Given the description of an element on the screen output the (x, y) to click on. 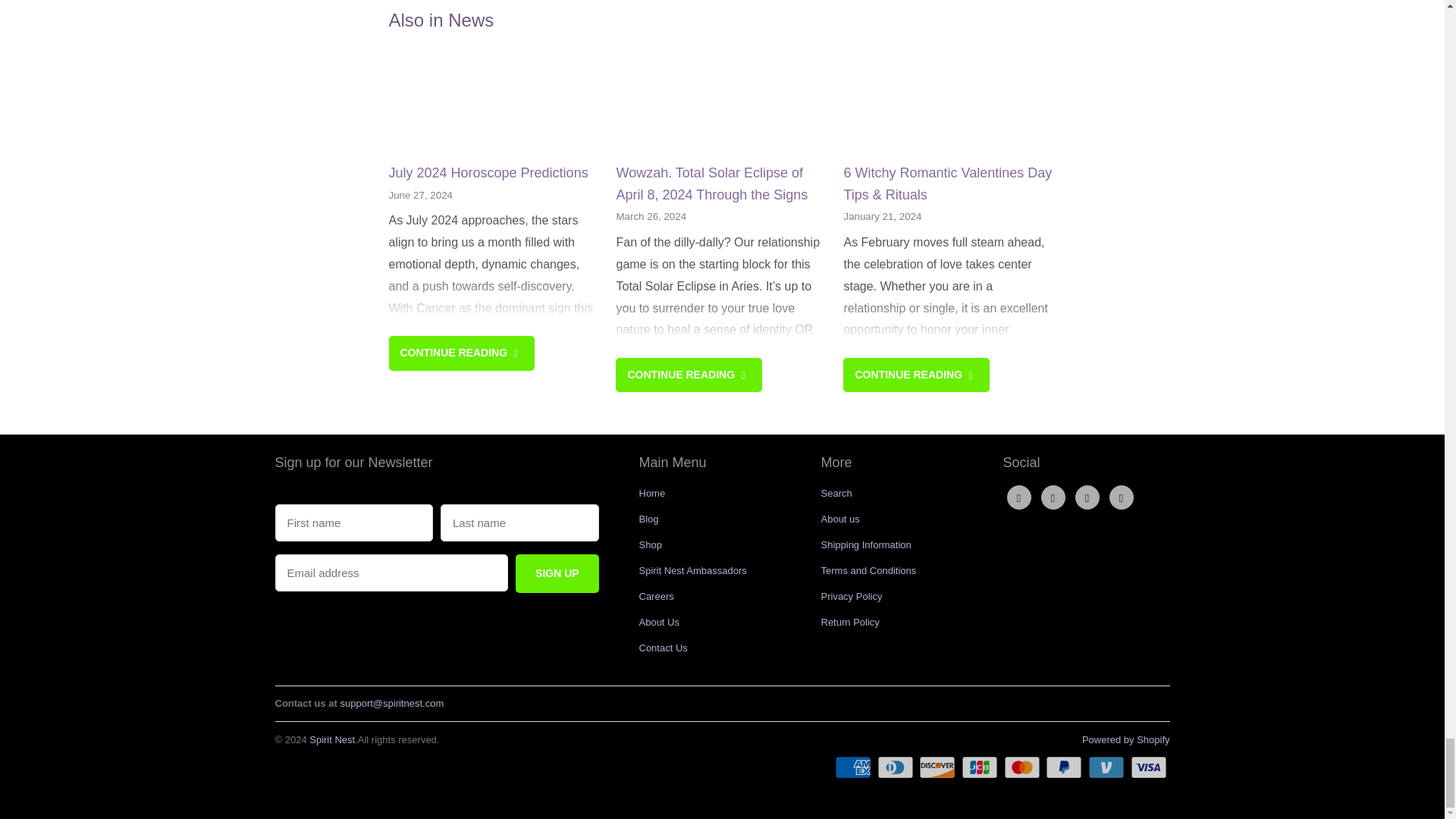
American Express (854, 766)
Sign Up (556, 573)
July 2024 Horoscope Predictions (488, 172)
PayPal (1064, 766)
Diners Club (897, 766)
July 2024 Horoscope Predictions (493, 103)
July 2024 Horoscope Predictions (461, 352)
Discover (938, 766)
Visa (1149, 766)
